Given the description of an element on the screen output the (x, y) to click on. 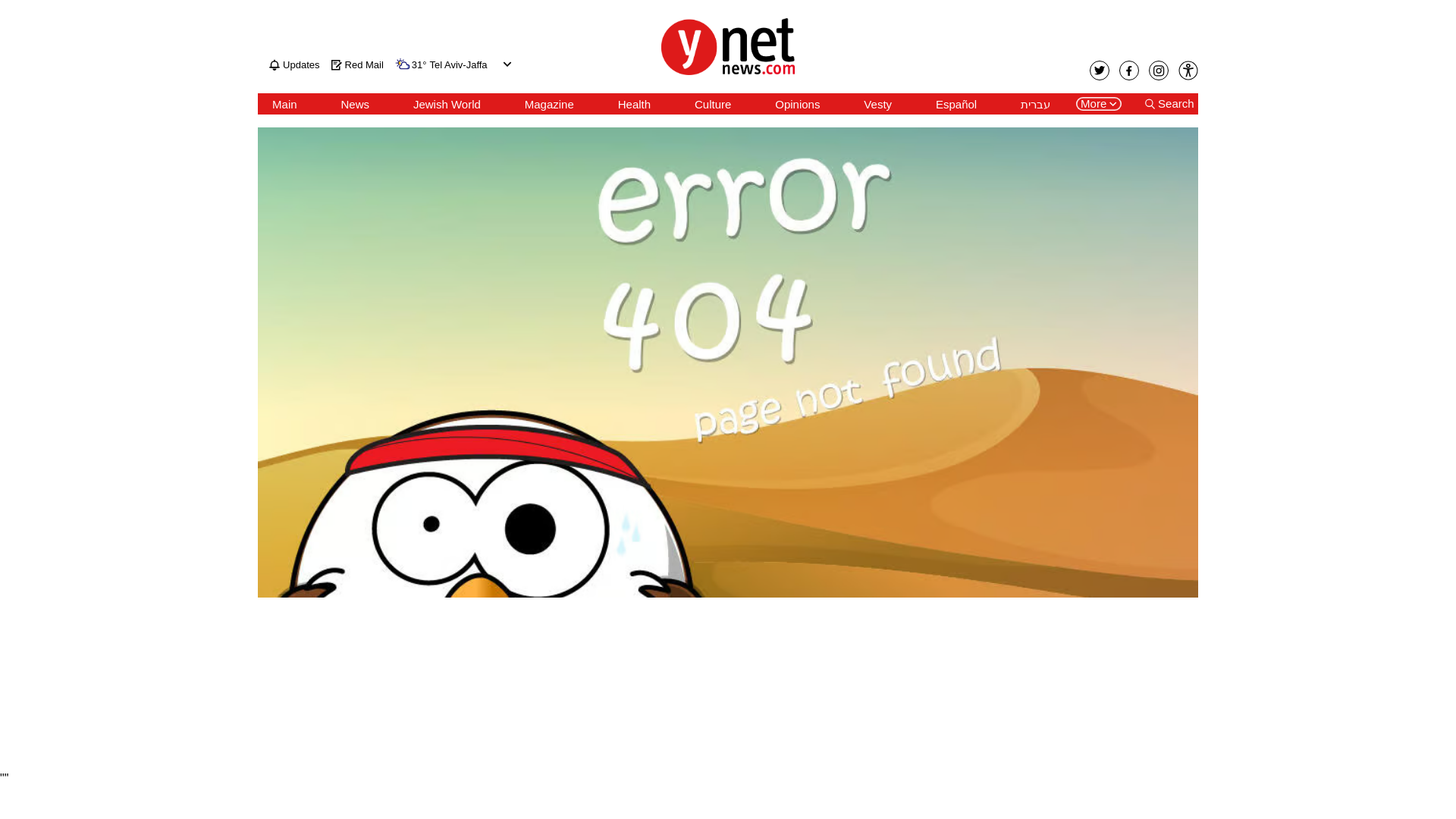
Main (284, 103)
Tel Aviv-Jaffa (457, 65)
Red Mail (357, 64)
Jewish World (446, 103)
Updates (293, 64)
Vesty (877, 103)
Opinions (796, 103)
News (354, 103)
Health (633, 103)
Magazine (548, 103)
